Given the description of an element on the screen output the (x, y) to click on. 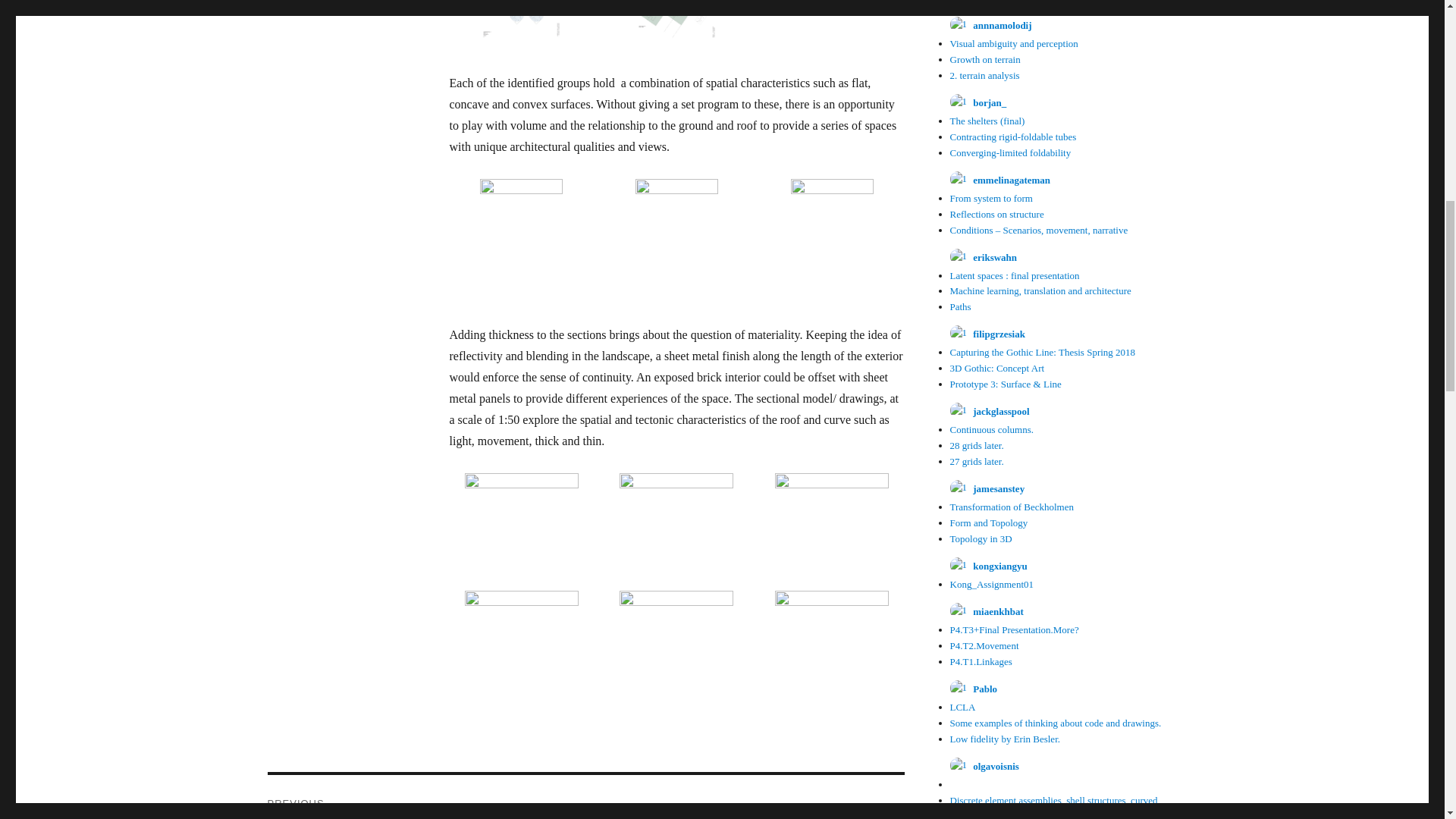
Contracting rigid-foldable tubes (1012, 136)
Visual ambiguity and perception (1013, 43)
2. terrain analysis (984, 75)
For all the space frame lovers out there (1026, 2)
Growth on terrain (984, 59)
